Given the description of an element on the screen output the (x, y) to click on. 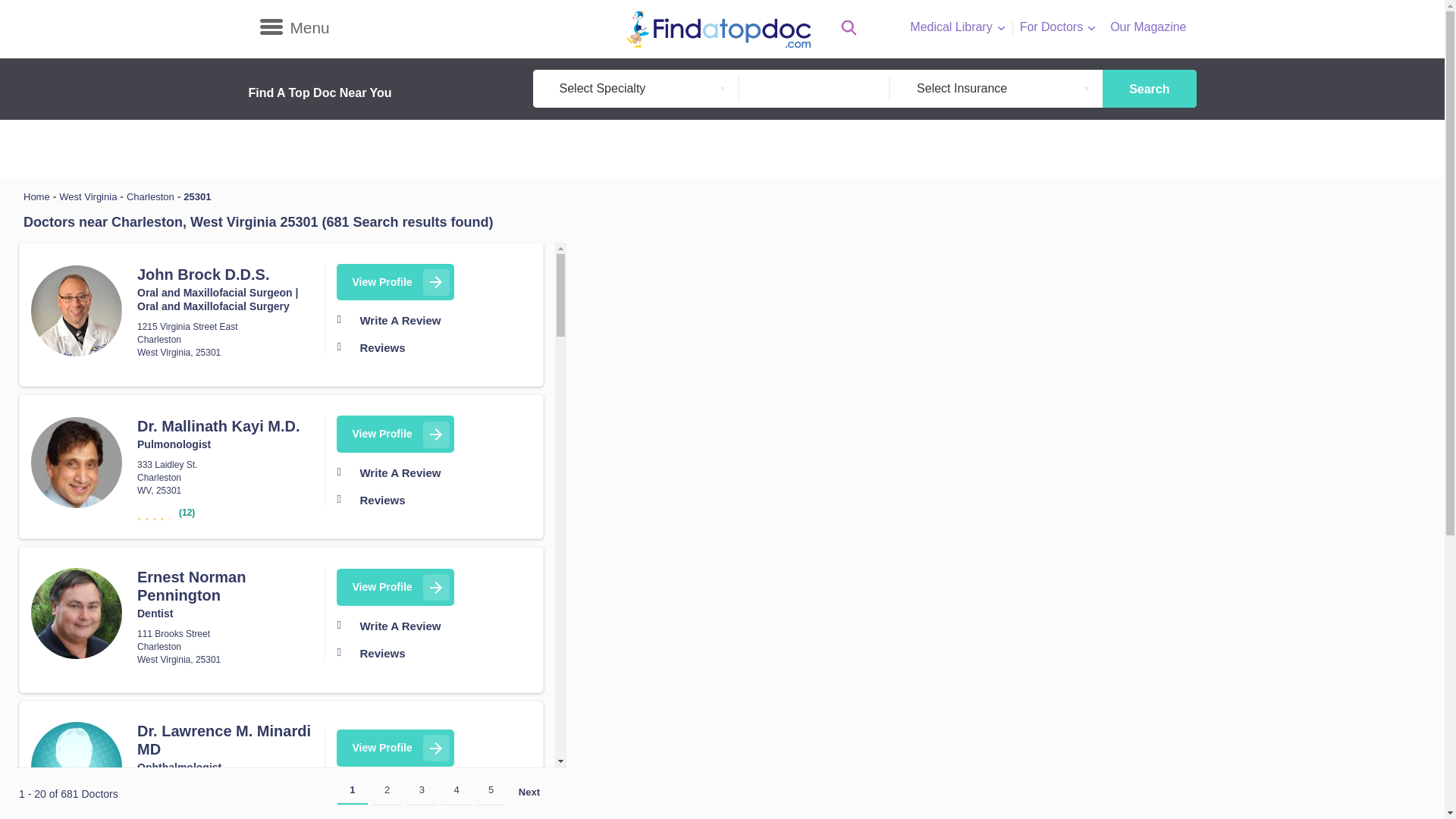
Dr. Lawrence M. Minardi MD (76, 767)
John  Brock D.D.S. (76, 310)
Ernest Norman Pennington (76, 613)
Select Insurance (995, 88)
Dr. Mallinath  Kayi M.D. (76, 461)
Menu (294, 27)
